Given the description of an element on the screen output the (x, y) to click on. 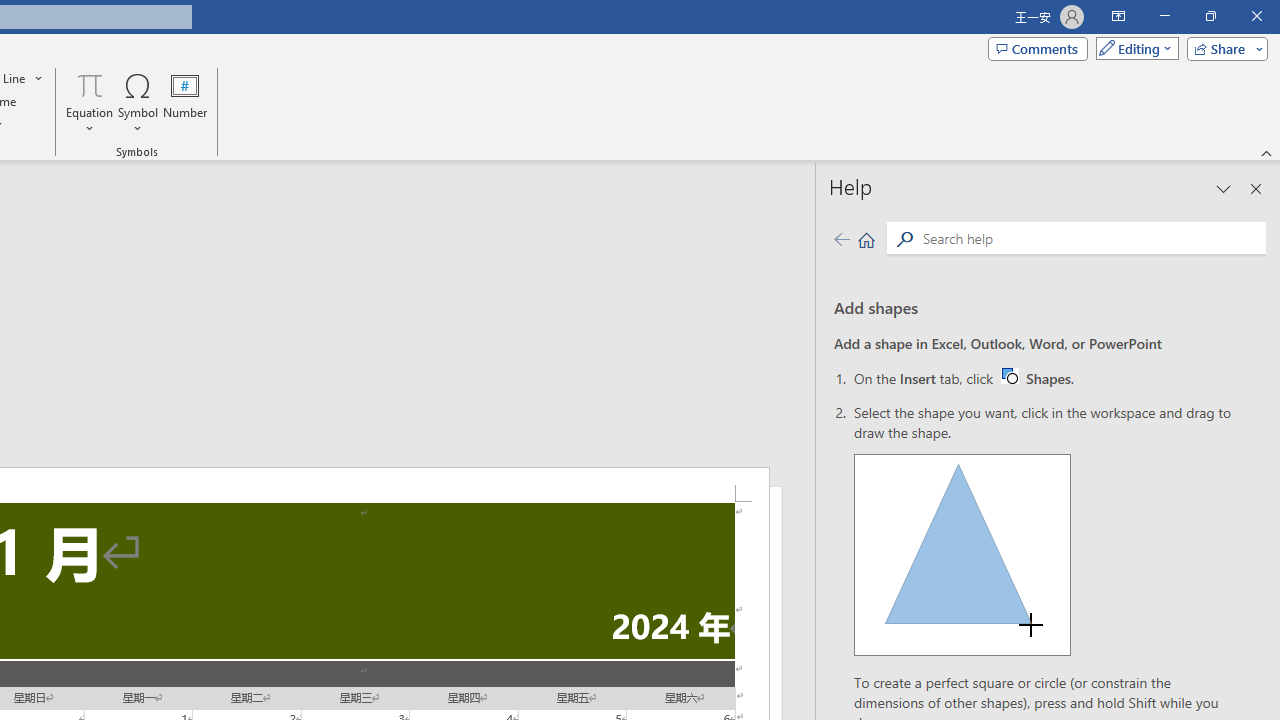
Equation (90, 84)
Task Pane Options (1224, 188)
Comments (1038, 48)
Search (1089, 237)
Ribbon Display Options (1118, 16)
More Options (90, 121)
Number... (185, 102)
Equation (90, 102)
Search (904, 238)
